Given the description of an element on the screen output the (x, y) to click on. 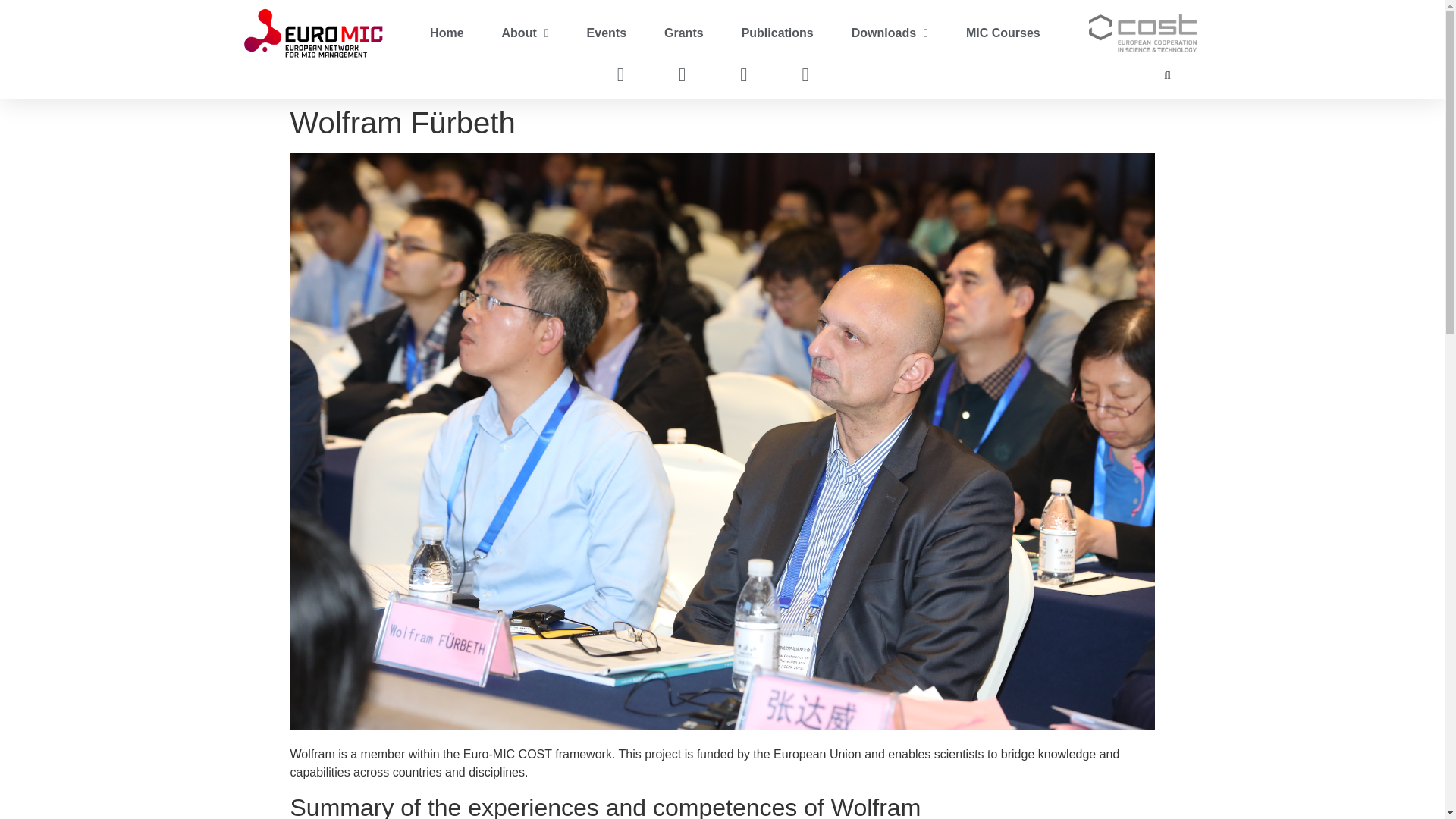
Publications (777, 32)
Downloads (889, 32)
About (525, 32)
Events (606, 32)
Grants (683, 32)
MIC Courses (1003, 32)
Home (446, 32)
